Given the description of an element on the screen output the (x, y) to click on. 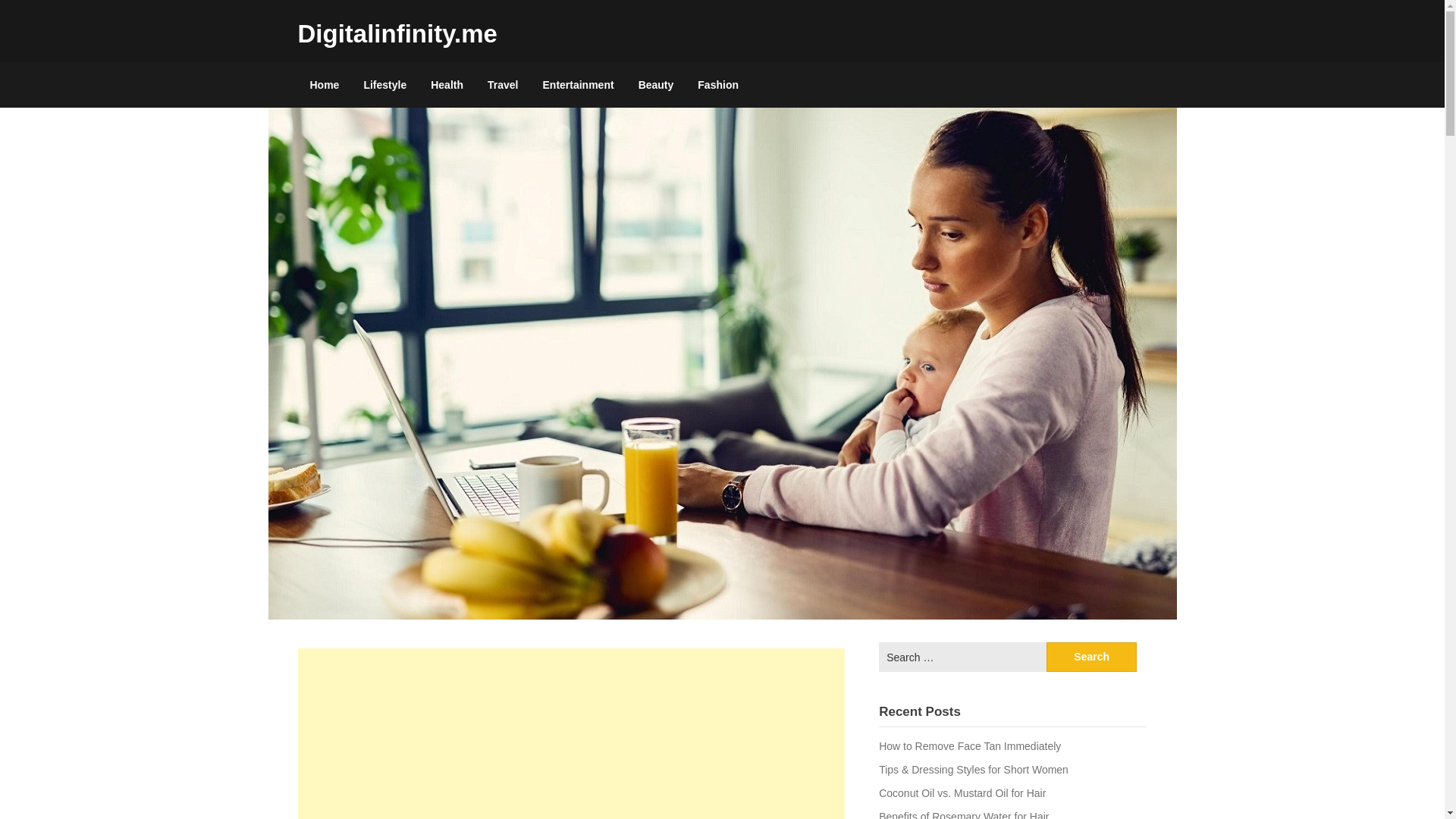
Lifestyle (384, 84)
How to Remove Face Tan Immediately (970, 746)
Entertainment (578, 84)
Benefits of Rosemary Water for Hair (963, 814)
Search (1091, 656)
Home (323, 84)
Search (1091, 656)
Health (447, 84)
Search (1091, 656)
Travel (502, 84)
Digitalinfinity.me (396, 33)
Beauty (655, 84)
Coconut Oil vs. Mustard Oil for Hair (962, 793)
Fashion (718, 84)
